Given the description of an element on the screen output the (x, y) to click on. 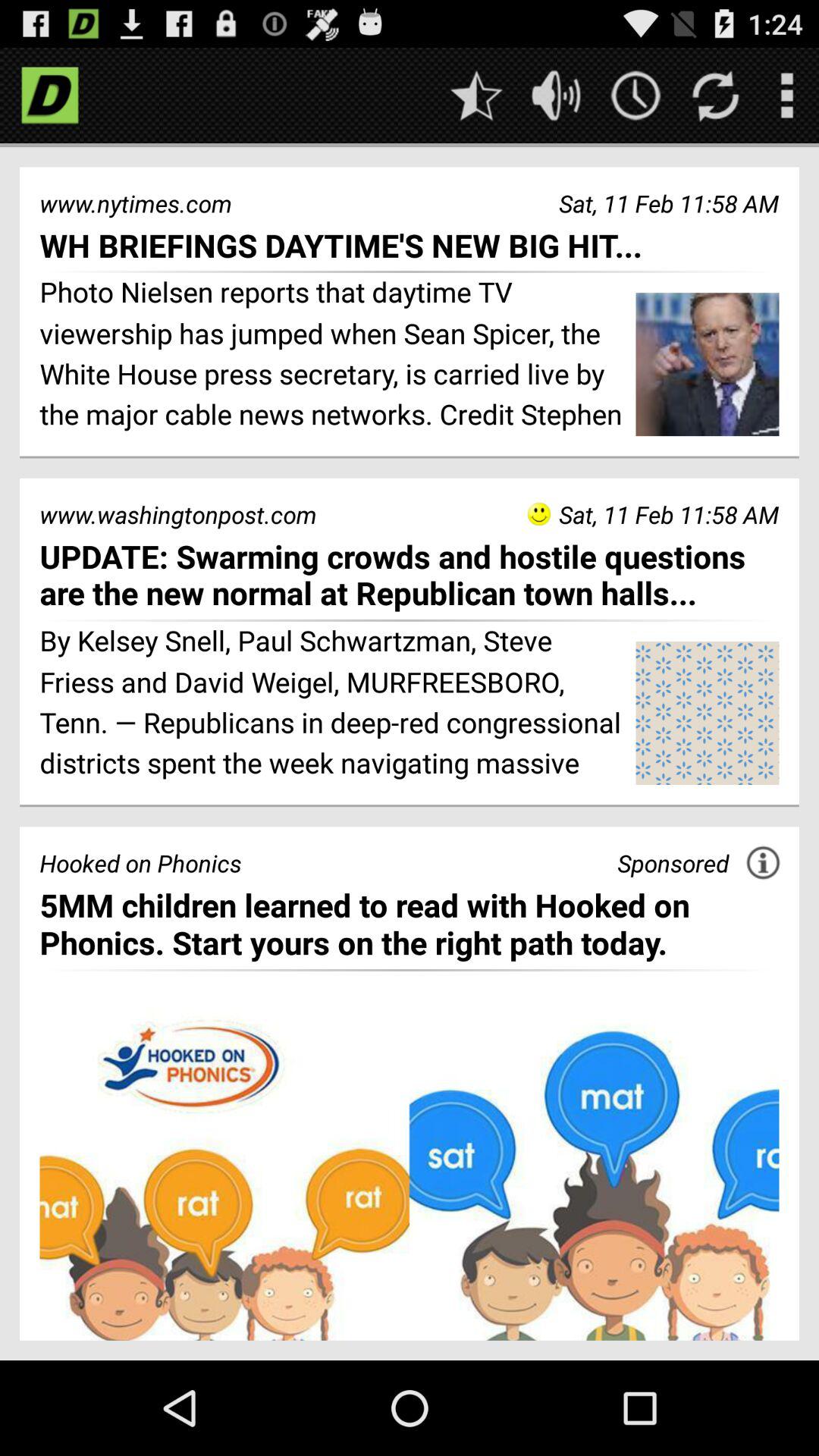
display advertiser information (763, 862)
